Given the description of an element on the screen output the (x, y) to click on. 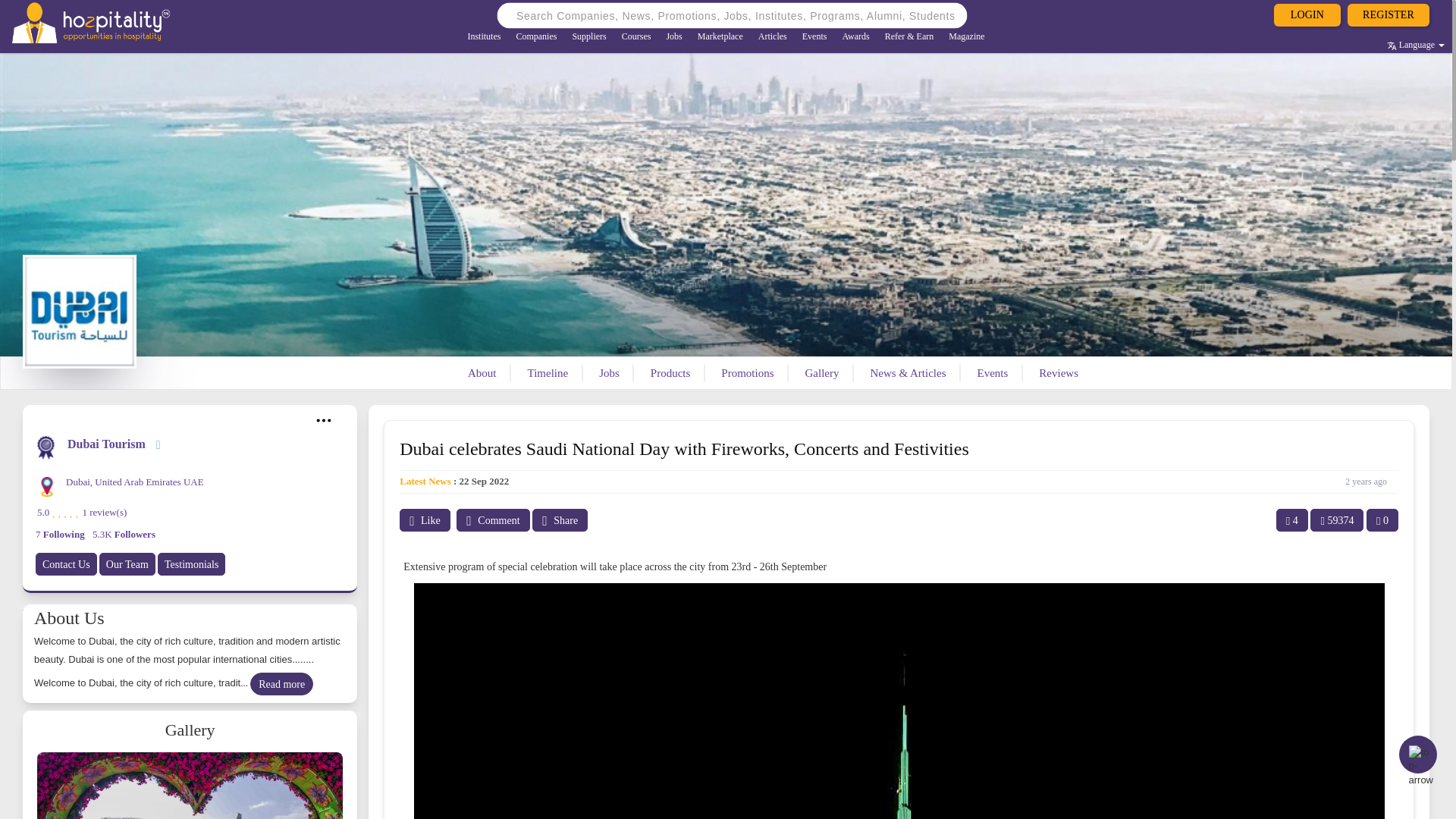
Comments (493, 519)
Language (1414, 46)
2 years ago (1366, 480)
Comments (1382, 519)
Likes (1291, 519)
Share (560, 519)
Institutes (484, 38)
Like (423, 519)
Articles (772, 38)
Views (1336, 519)
Awards (855, 38)
Companies (536, 38)
Suppliers (588, 38)
Events (814, 38)
LOGIN (1307, 15)
